Given the description of an element on the screen output the (x, y) to click on. 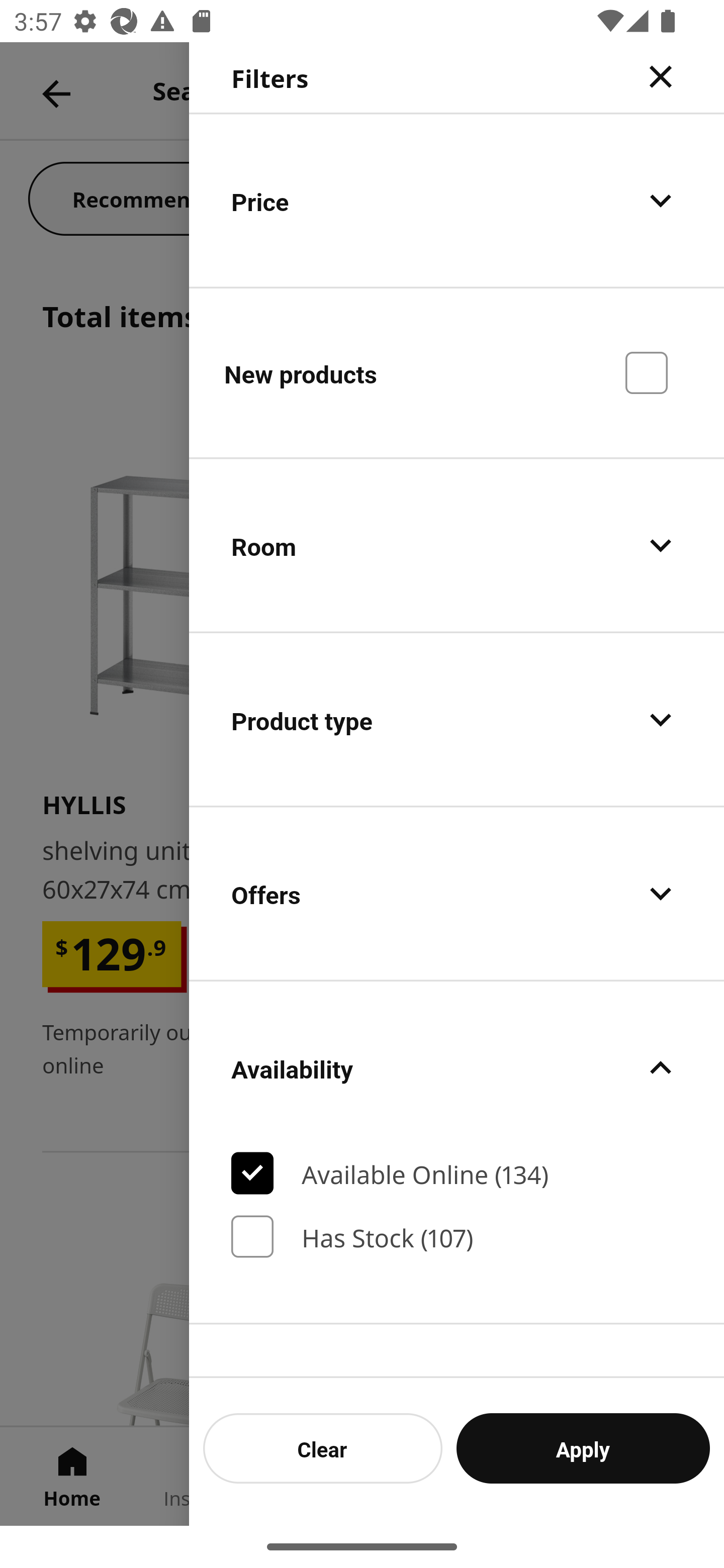
Price (456, 200)
New products (456, 371)
Room (456, 545)
Product type (456, 719)
Offers (456, 893)
Availability (456, 1067)
Available Online (134) (456, 1173)
Has Stock (107) (456, 1236)
Clear (322, 1447)
Apply (583, 1447)
